Given the description of an element on the screen output the (x, y) to click on. 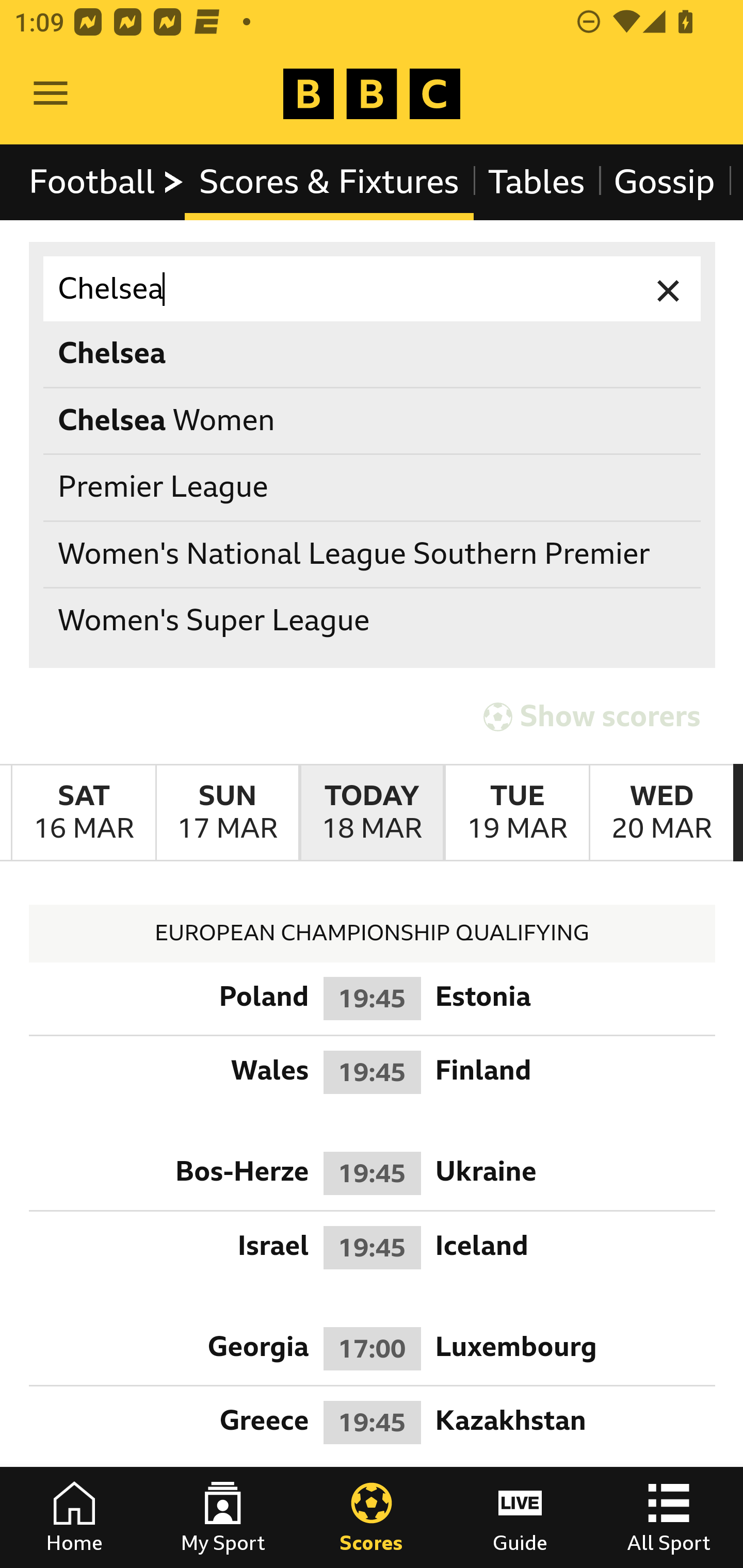
Open Menu (50, 93)
Football  (106, 181)
Scores & Fixtures (329, 181)
Tables (536, 181)
Gossip (664, 181)
Chelsea (372, 289)
Clear input (669, 289)
Chelsea (372, 353)
Chelsea Women Chelsea  Women (372, 419)
Premier League (372, 488)
Women's National League Southern Premier (372, 554)
Women's Super League (372, 620)
Show scorers (591, 716)
SaturdayMarch 16th Saturday March 16th (83, 812)
SundayMarch 17th Sunday March 17th (227, 812)
TodayMarch 18th Today March 18th (371, 812)
TuesdayMarch 19th Tuesday March 19th (516, 812)
WednesdayMarch 20th Wednesday March 20th (661, 812)
Home (74, 1517)
My Sport (222, 1517)
Guide (519, 1517)
All Sport (668, 1517)
